Given the description of an element on the screen output the (x, y) to click on. 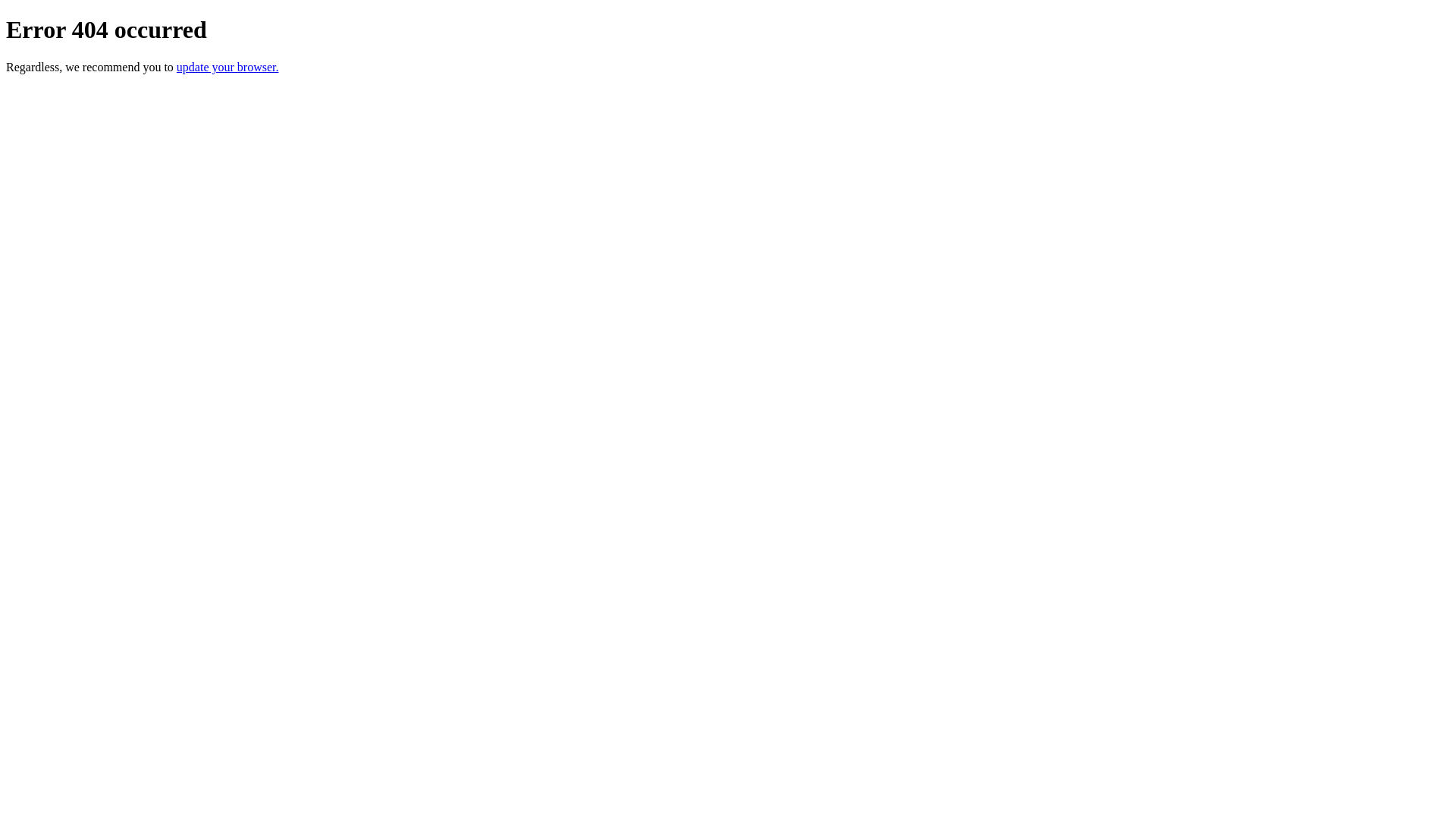
update your browser. Element type: text (227, 66)
